Given the description of an element on the screen output the (x, y) to click on. 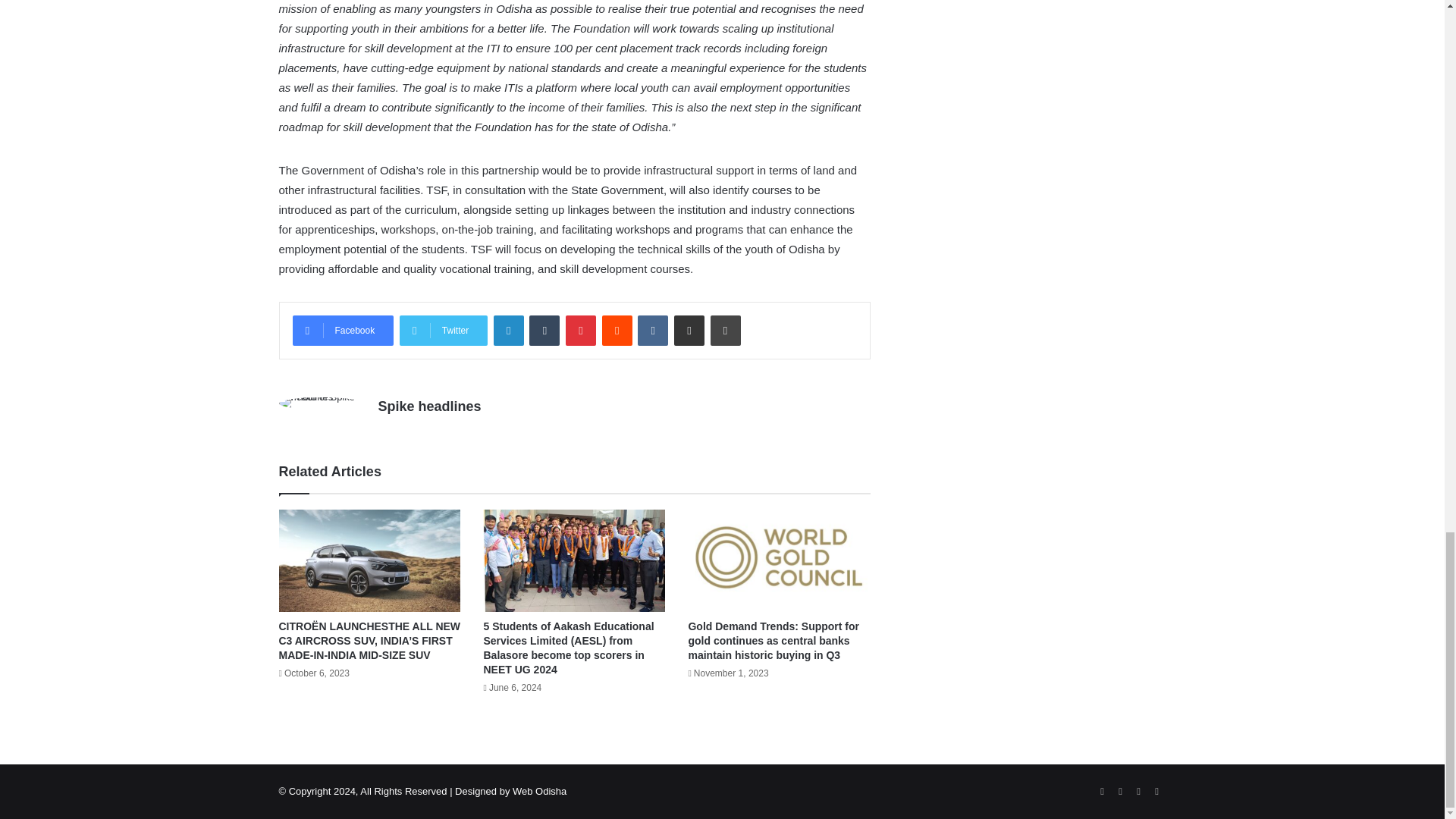
LinkedIn (508, 330)
Facebook (343, 330)
Tumblr (544, 330)
Twitter (442, 330)
Pinterest (580, 330)
Facebook (343, 330)
Share via Email (689, 330)
VKontakte (652, 330)
Twitter (442, 330)
Print (725, 330)
